Given the description of an element on the screen output the (x, y) to click on. 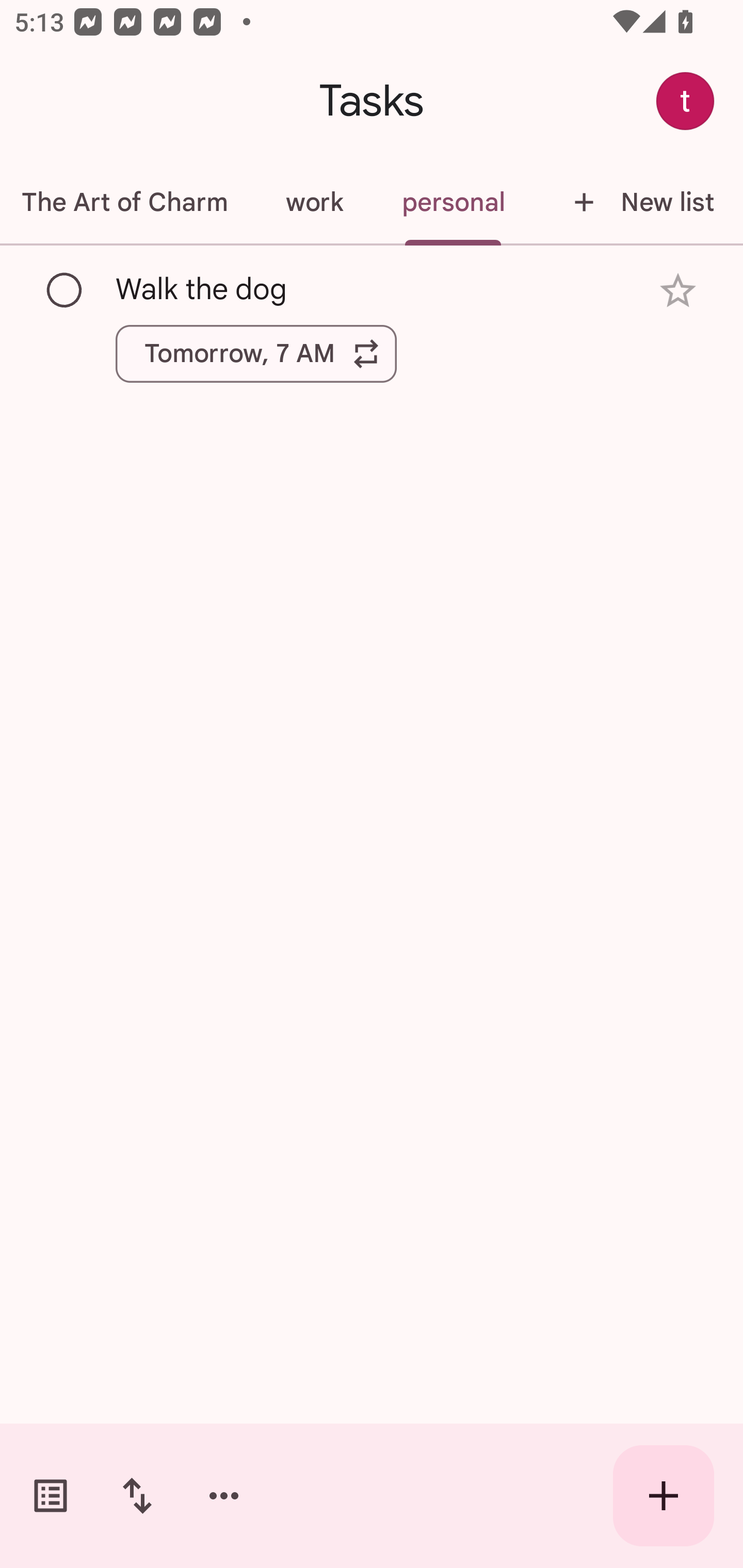
The Art of Charm (128, 202)
work (314, 202)
New list (638, 202)
Add star (677, 290)
Mark as complete (64, 290)
Tomorrow, 7 AM (255, 353)
Switch task lists (50, 1495)
Create new task (663, 1495)
Change sort order (136, 1495)
More options (223, 1495)
